Given the description of an element on the screen output the (x, y) to click on. 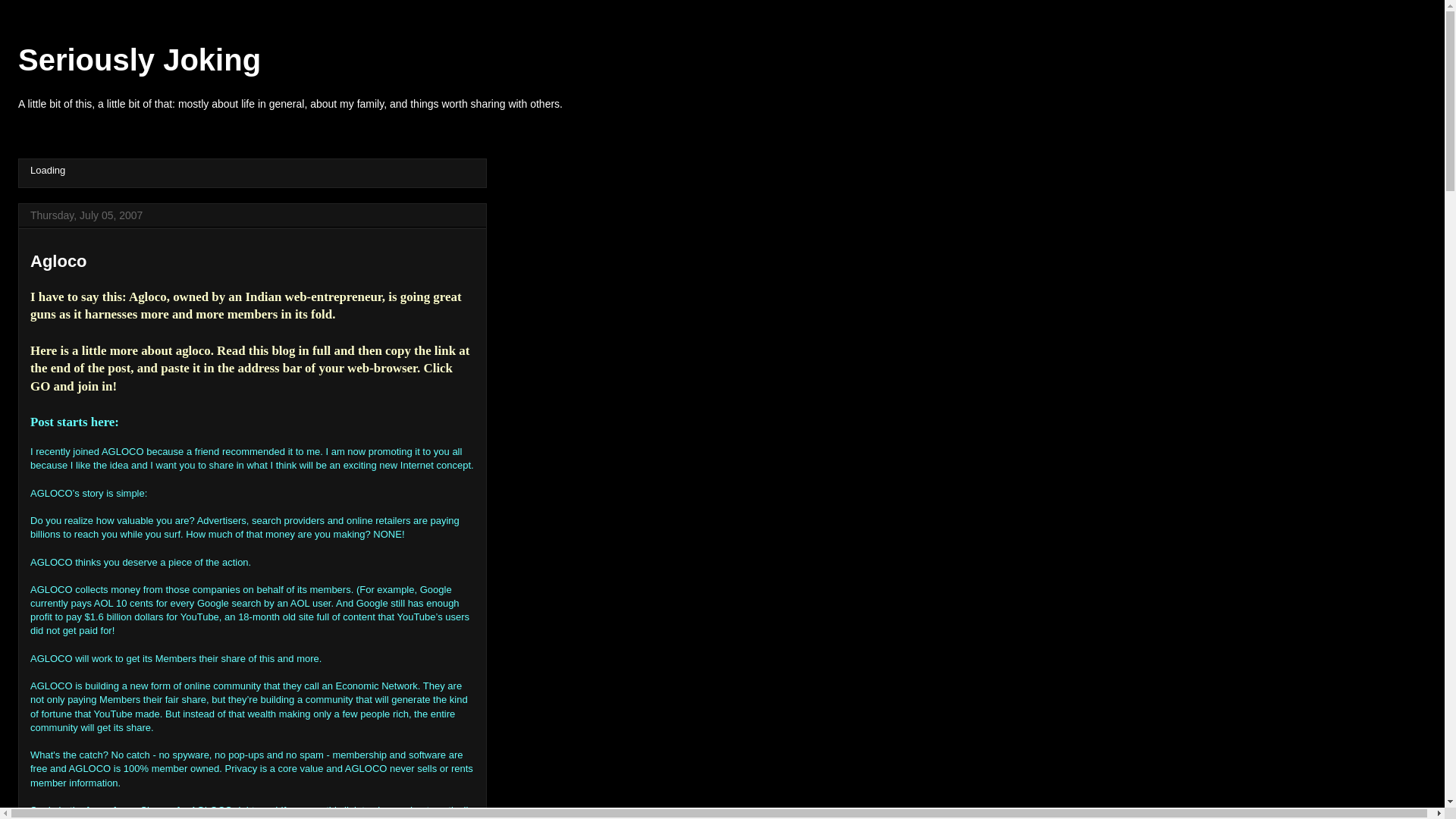
Click here! (306, 818)
Seriously Joking (138, 59)
